Given the description of an element on the screen output the (x, y) to click on. 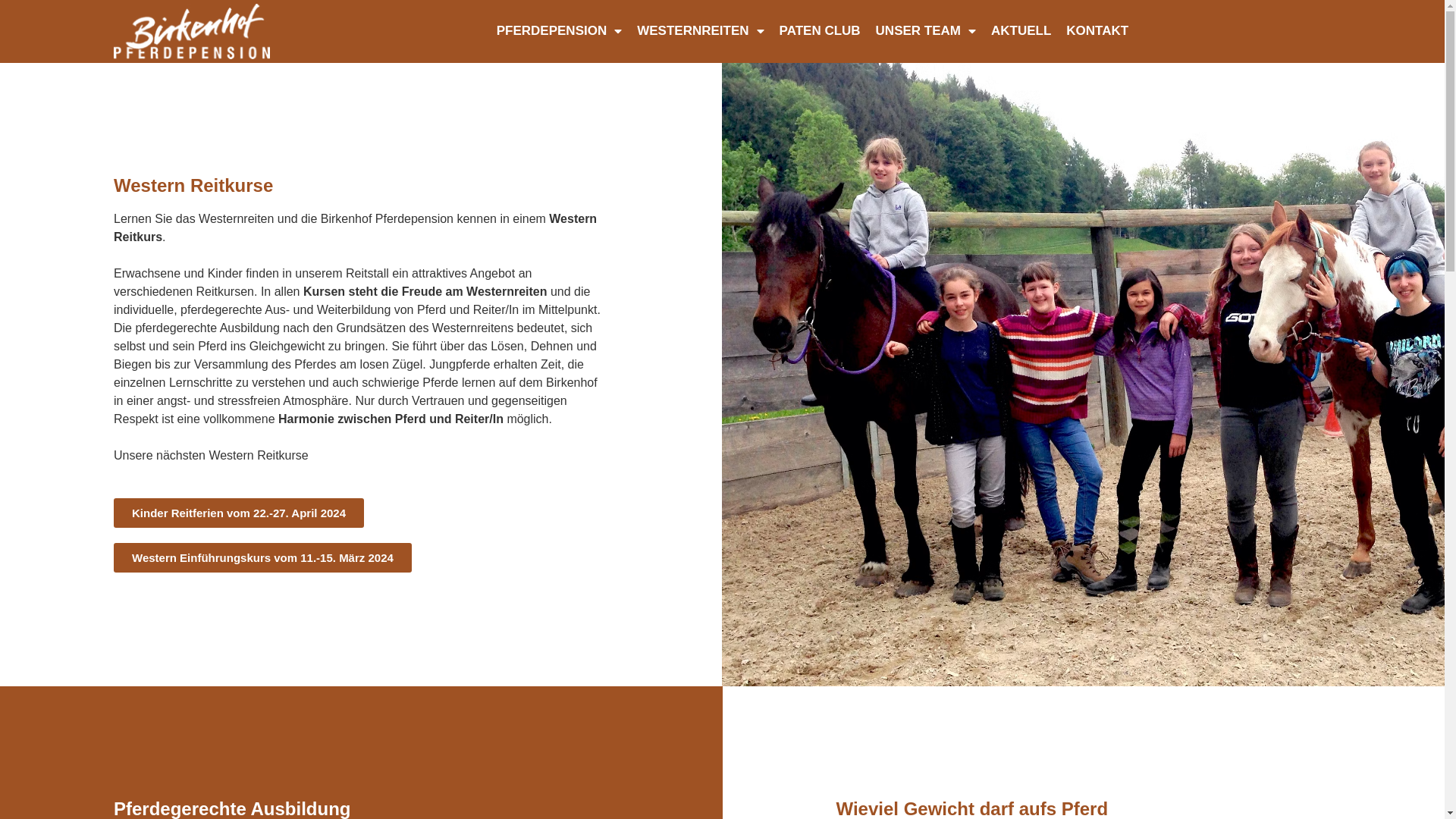
PATEN CLUB Element type: text (819, 30)
PFERDEPENSION Element type: text (558, 30)
AKTUELL Element type: text (1021, 30)
WESTERNREITEN Element type: text (700, 30)
UNSER TEAM Element type: text (925, 30)
Kinder Reitferien vom 22.-27. April 2024 Element type: text (238, 512)
KONTAKT Element type: text (1097, 30)
